Given the description of an element on the screen output the (x, y) to click on. 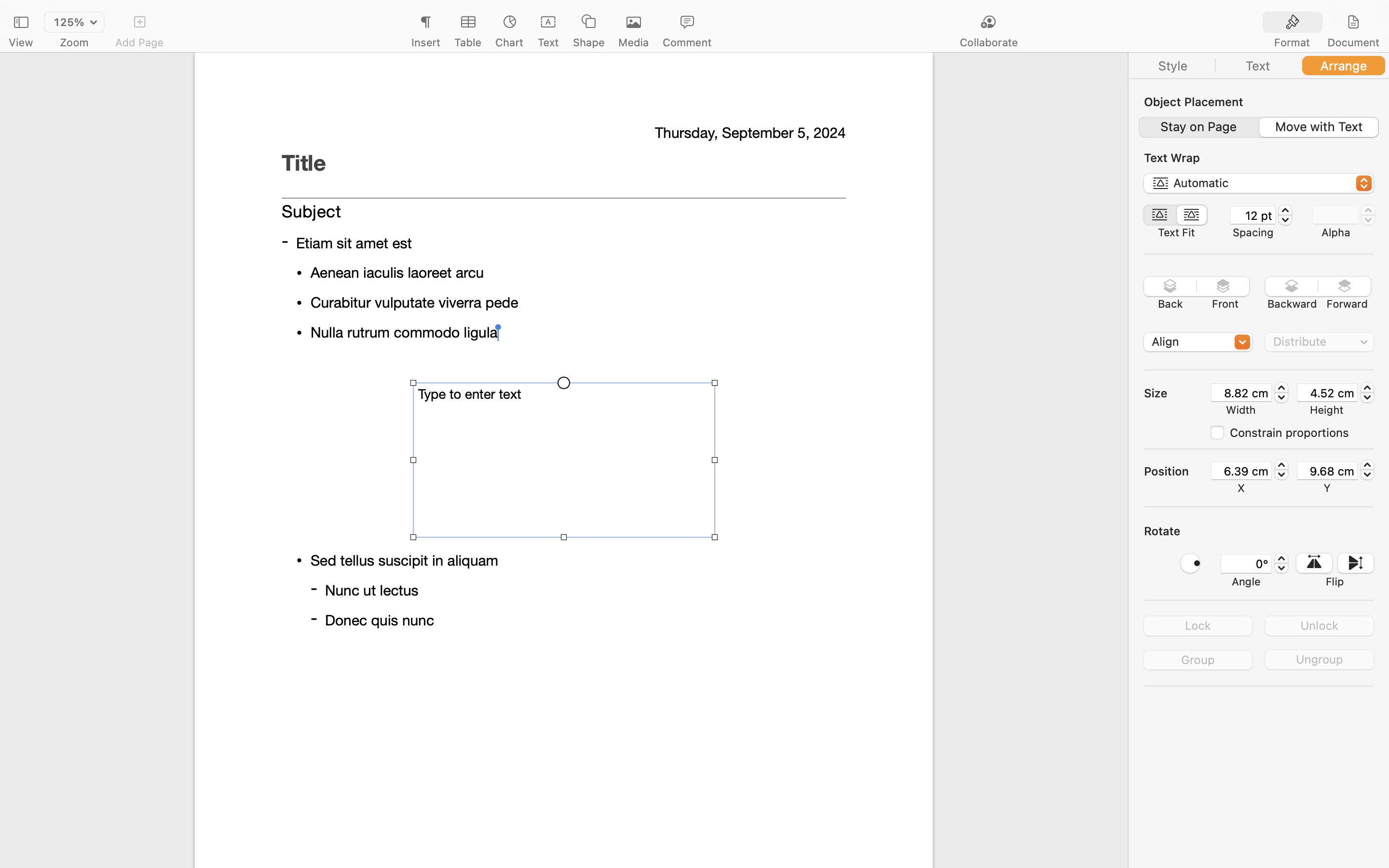
4.52 cm Element type: AXTextField (1327, 392)
X Element type: AXStaticText (1241, 487)
8.82 cm Element type: AXTextField (1241, 392)
Click to link text boxes together. Element type: AXStaticText (563, 284)
Insert Element type: AXStaticText (425, 42)
